Given the description of an element on the screen output the (x, y) to click on. 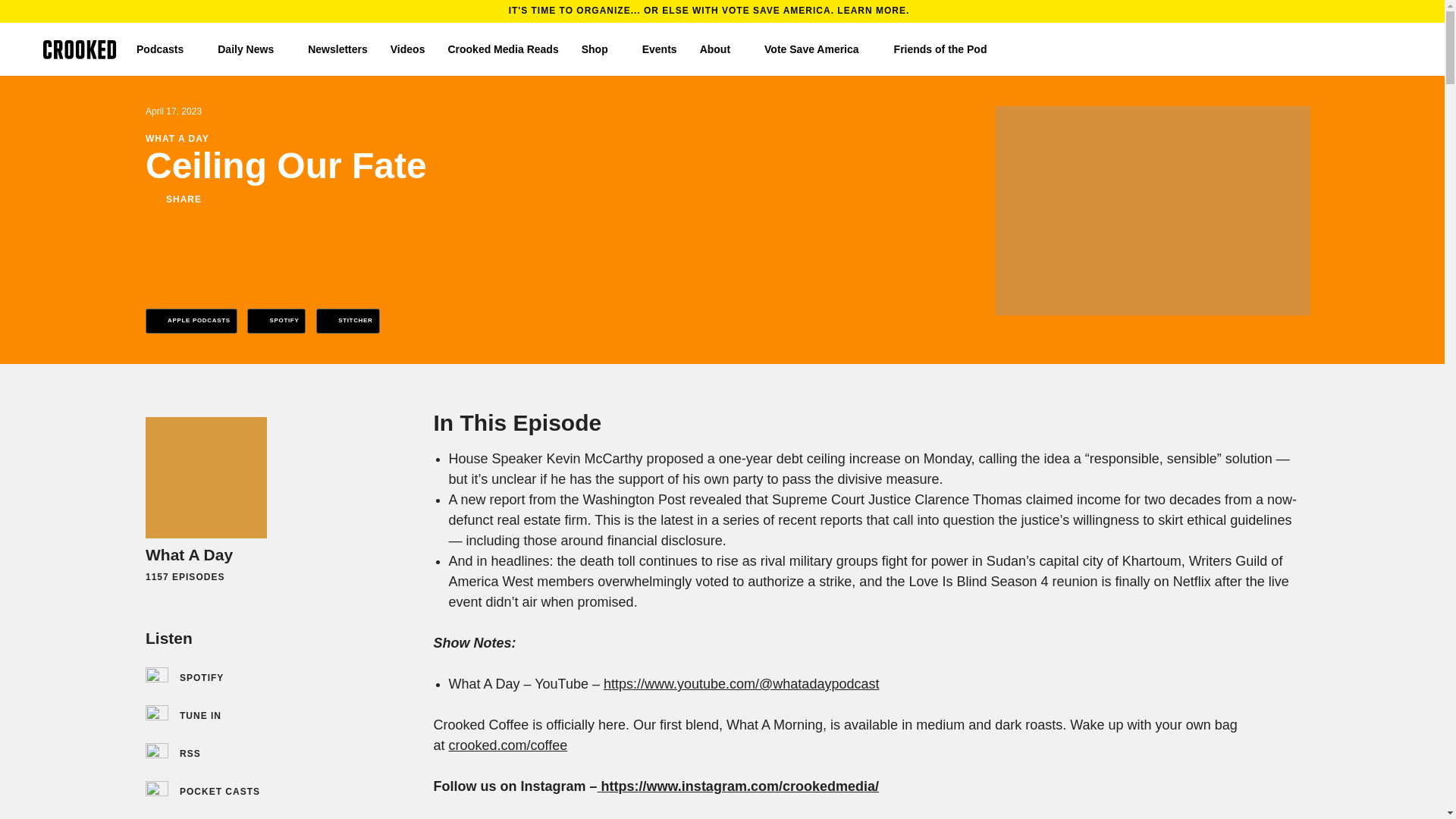
Events (659, 48)
Vote Save America (817, 48)
Newsletters (337, 48)
Shop (600, 48)
Crooked Media Reads (501, 48)
About (720, 48)
Videos (407, 48)
Daily News (250, 48)
